Given the description of an element on the screen output the (x, y) to click on. 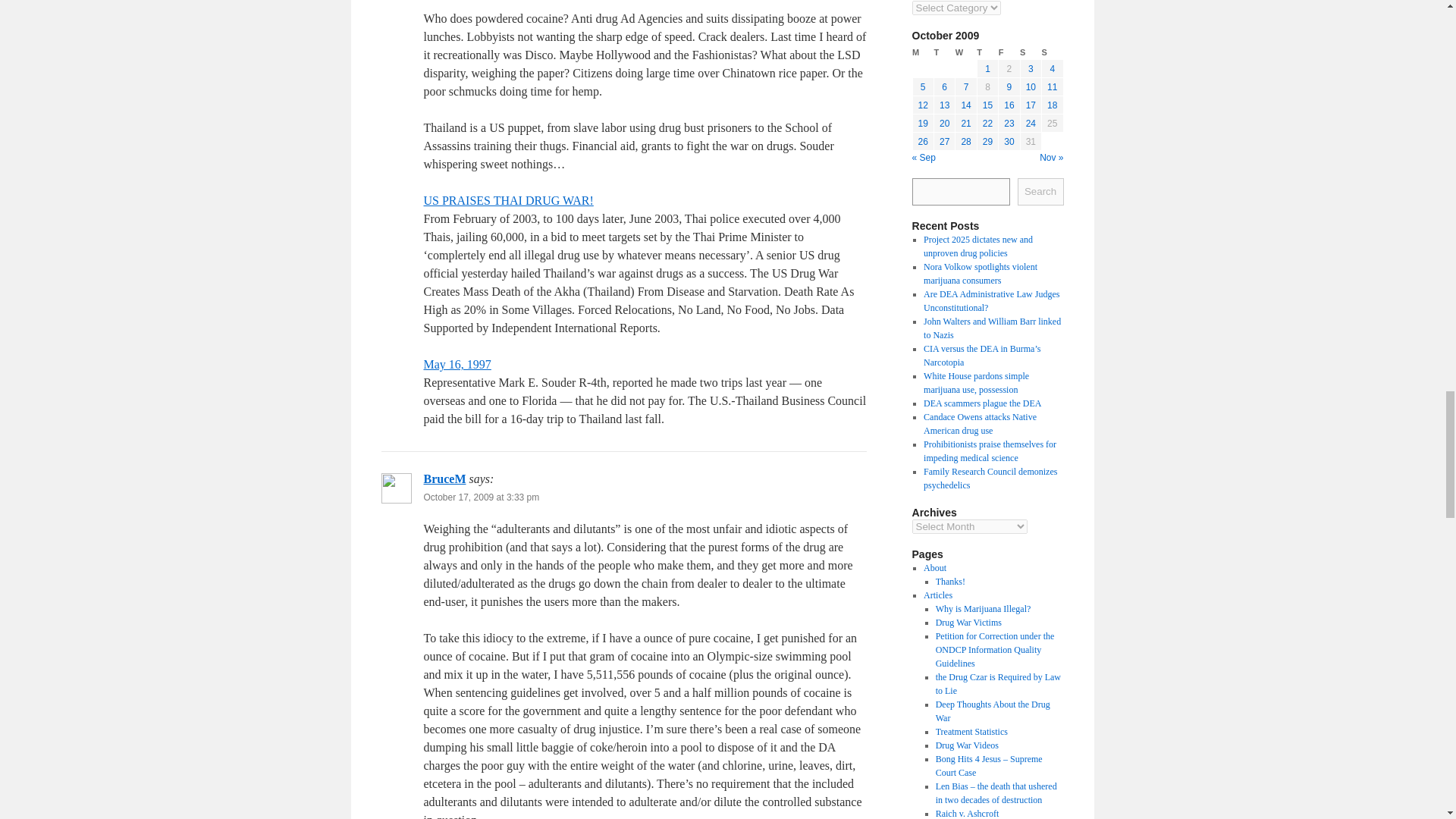
Tuesday (944, 52)
Wednesday (965, 52)
Monday (922, 52)
